Given the description of an element on the screen output the (x, y) to click on. 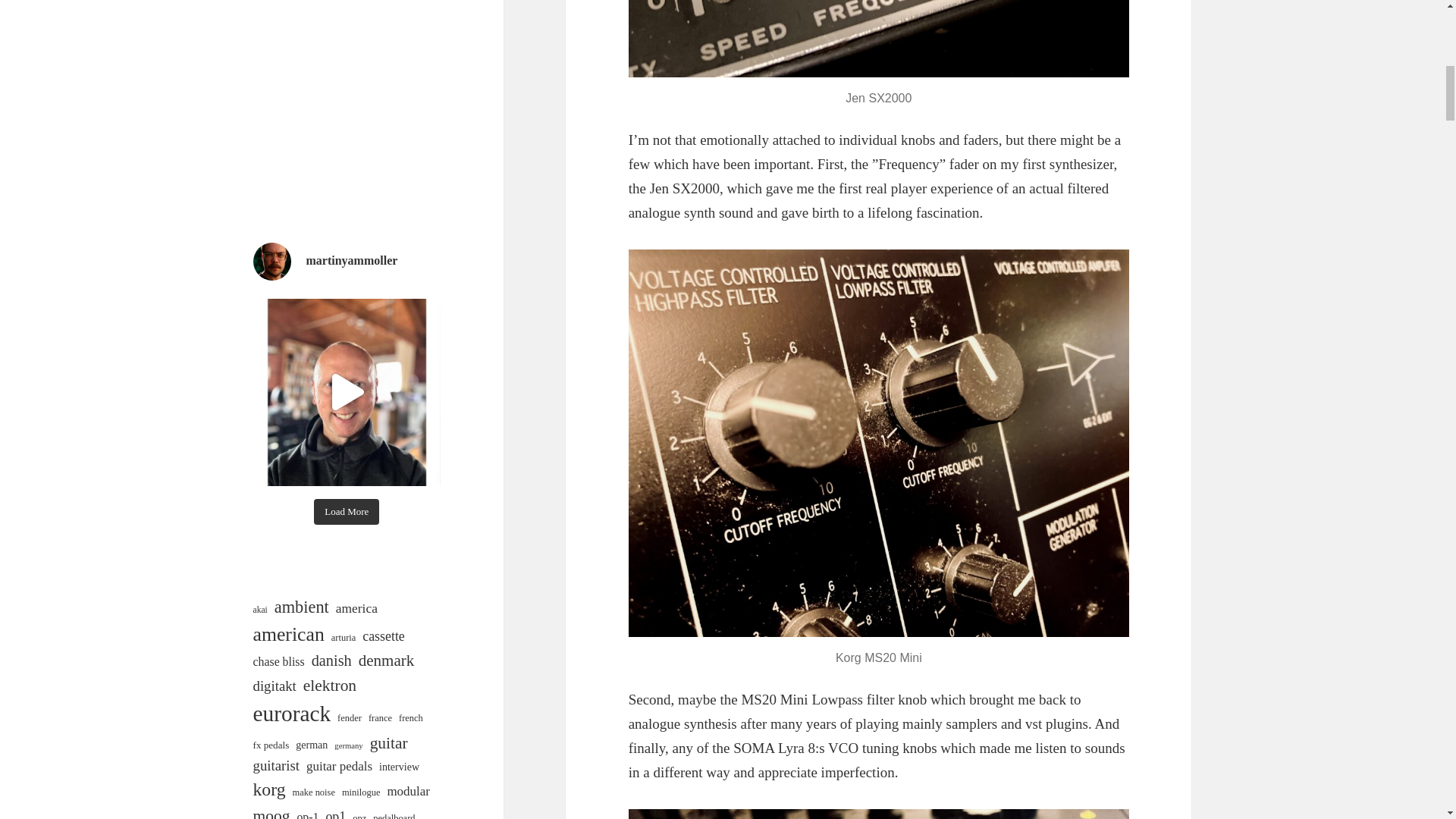
france (379, 718)
america (356, 608)
fender (349, 718)
french (410, 718)
eurorack (292, 714)
denmark (385, 661)
german (311, 744)
akai (260, 609)
germany (348, 746)
guitarist (276, 765)
digitakt (275, 685)
elektron (329, 685)
danish (331, 660)
ambient (302, 606)
fx pedals (271, 744)
